Given the description of an element on the screen output the (x, y) to click on. 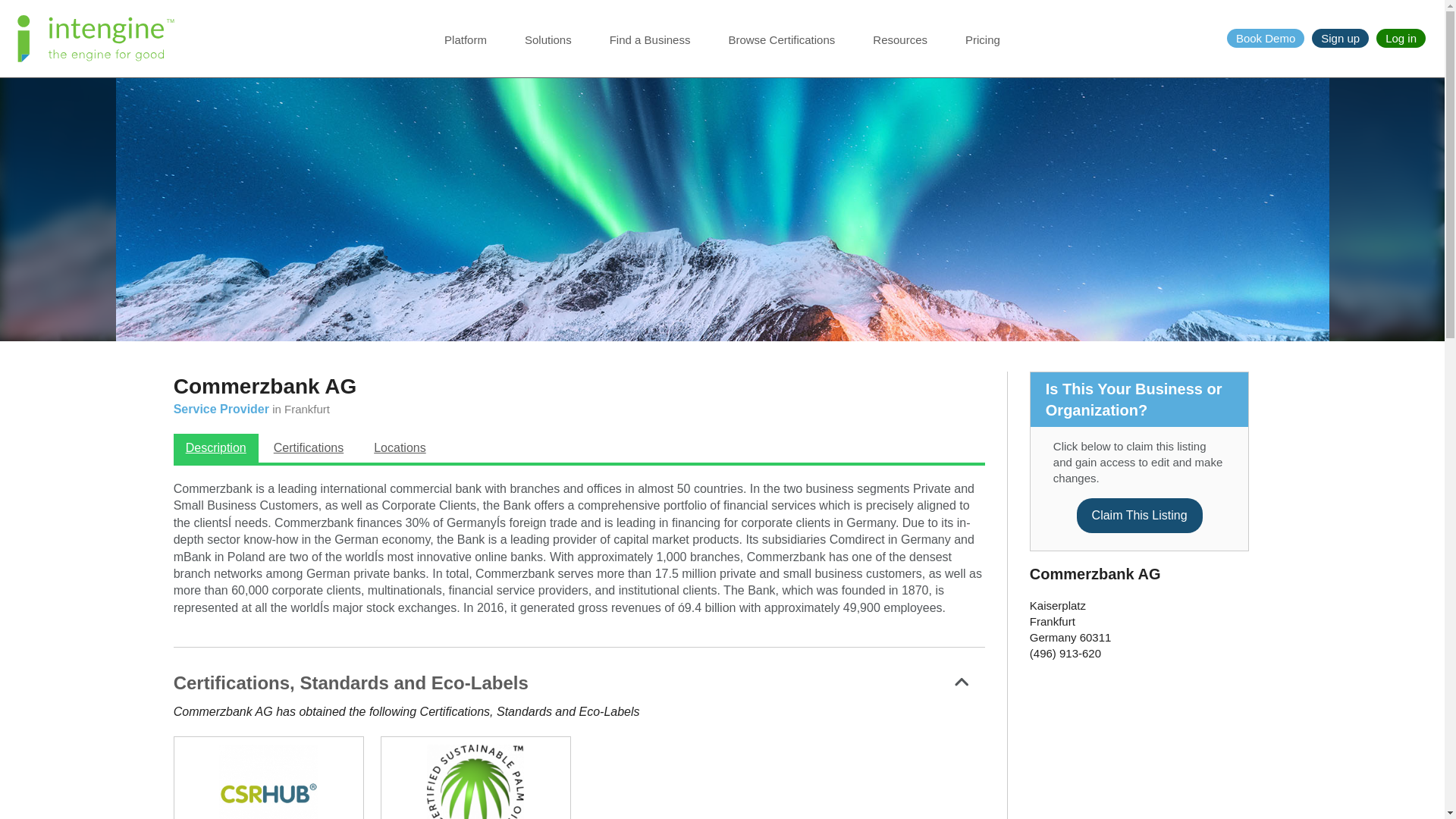
Solutions (548, 49)
CSRHub (268, 781)
RSPO Certified Sustainable Palm Oil (475, 781)
Platform (465, 49)
CSRHub (269, 781)
RSPO Certified Sustainable Palm Oil (475, 781)
Find a Business (650, 49)
